Given the description of an element on the screen output the (x, y) to click on. 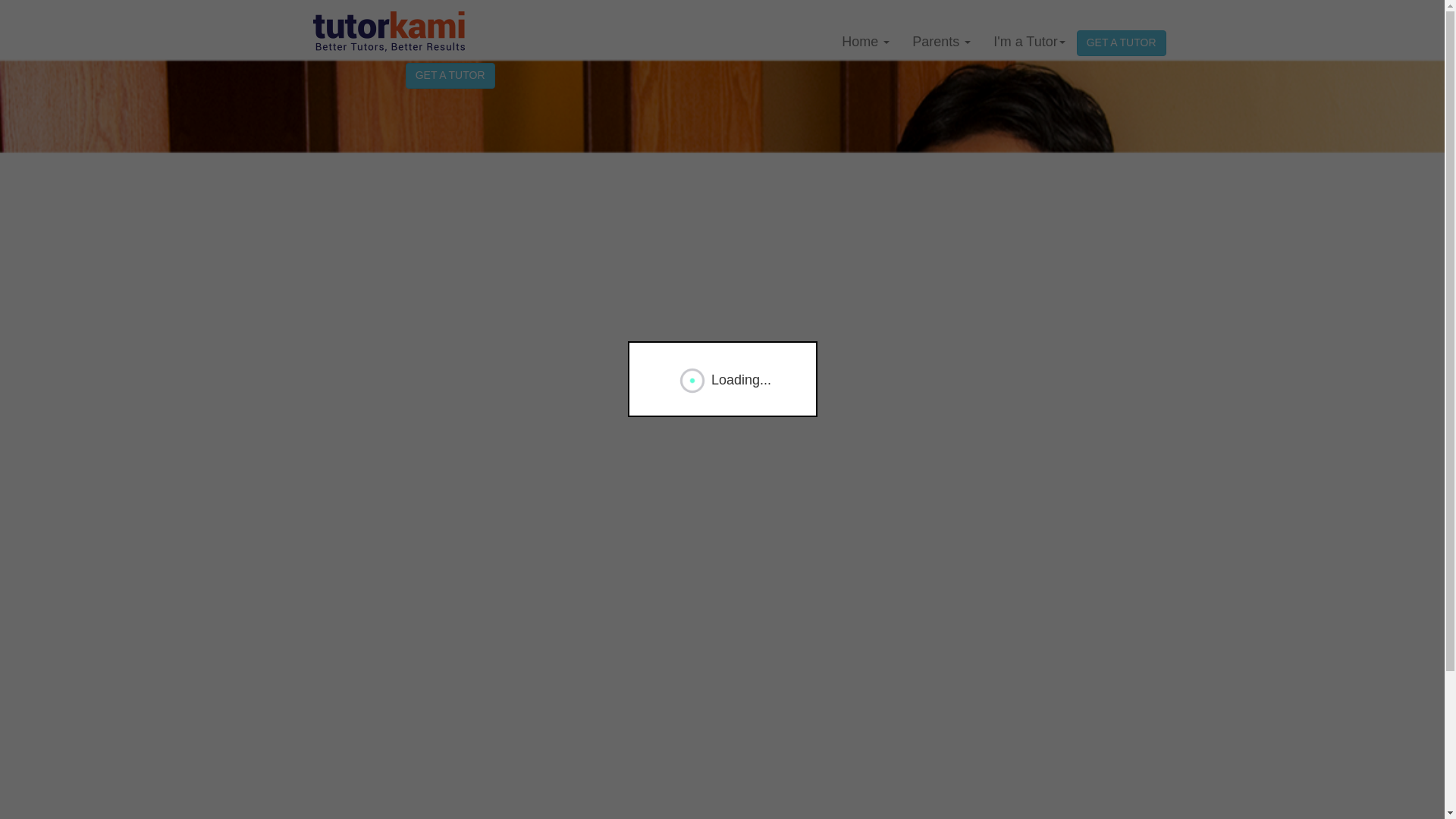
I'm a Tutor (1028, 41)
GET A TUTOR (450, 75)
Home (865, 41)
Parents (941, 41)
GET A TUTOR (1121, 43)
